Given the description of an element on the screen output the (x, y) to click on. 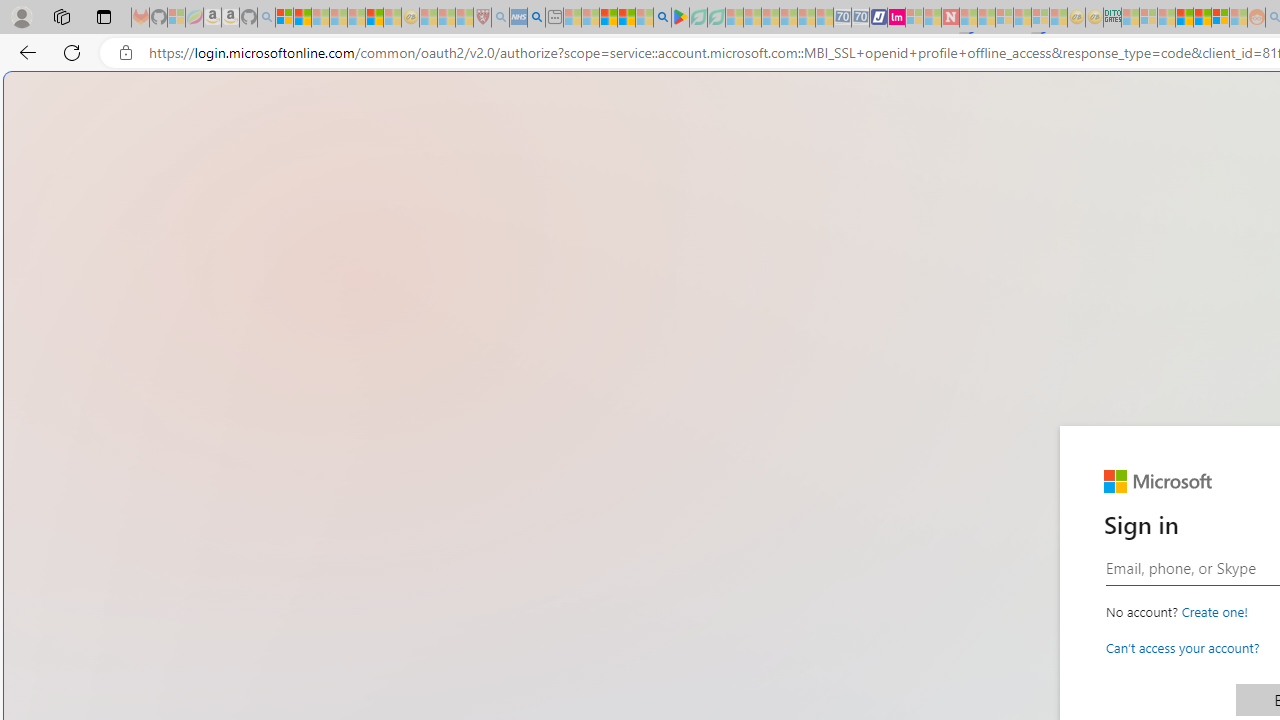
Create a Microsoft account (1214, 611)
Kinda Frugal - MSN (1202, 17)
Jobs - lastminute.com Investor Portal (896, 17)
Bluey: Let's Play! - Apps on Google Play (680, 17)
